Given the description of an element on the screen output the (x, y) to click on. 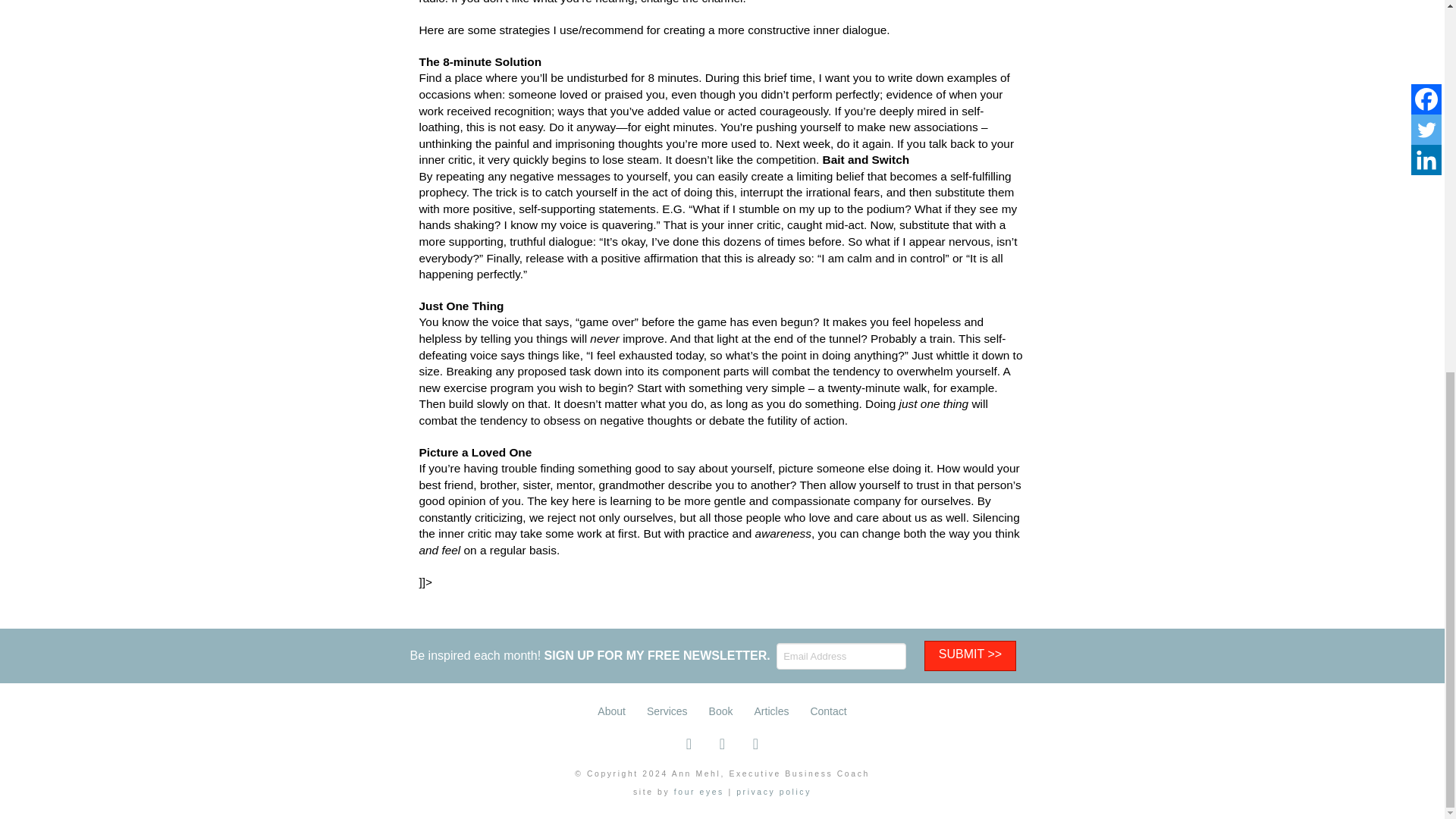
About (611, 711)
privacy policy (773, 791)
four eyes (698, 791)
Contact (828, 711)
Services (667, 711)
Articles (771, 711)
Book (721, 711)
